Given the description of an element on the screen output the (x, y) to click on. 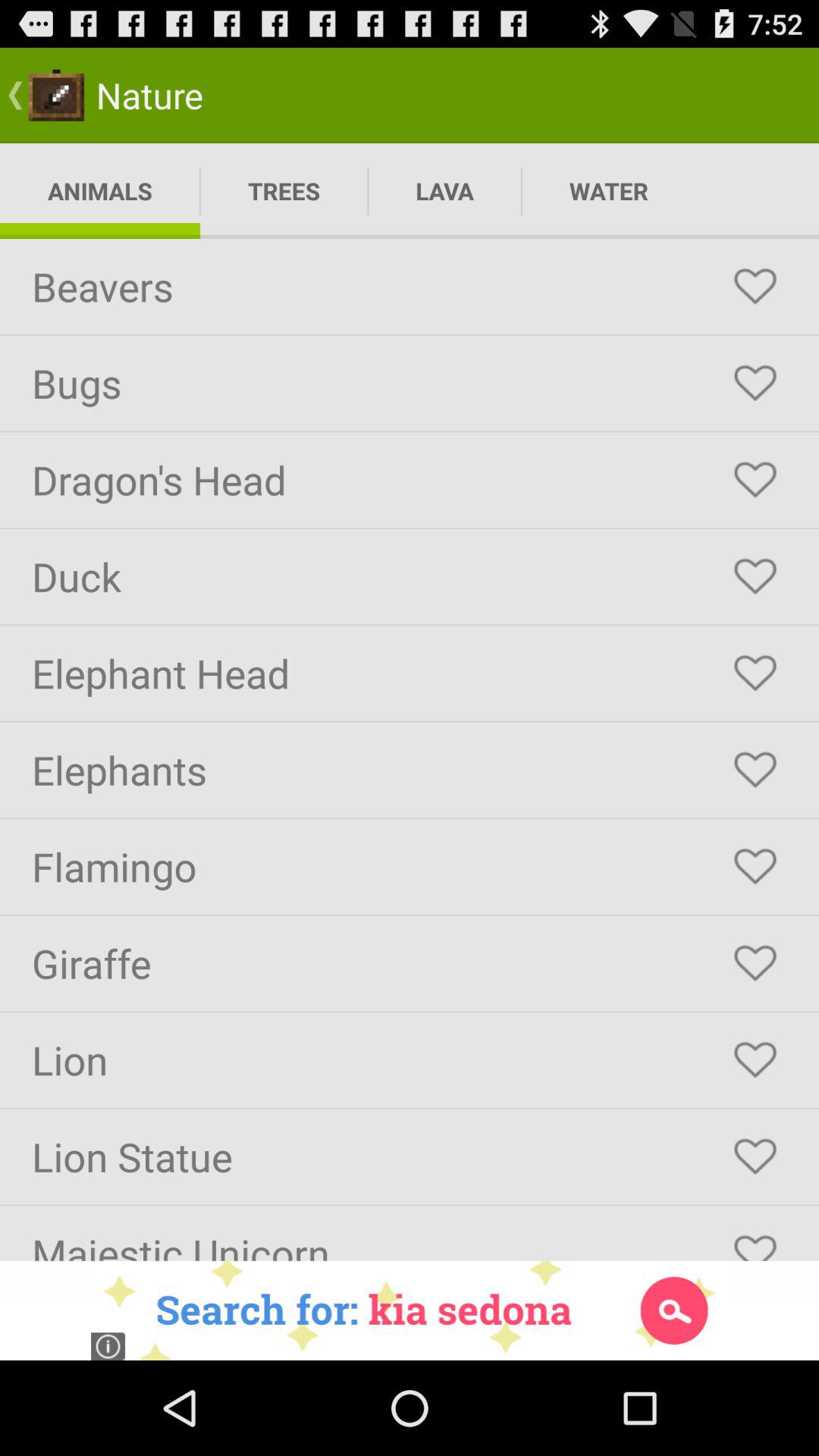
hart button (755, 769)
